Given the description of an element on the screen output the (x, y) to click on. 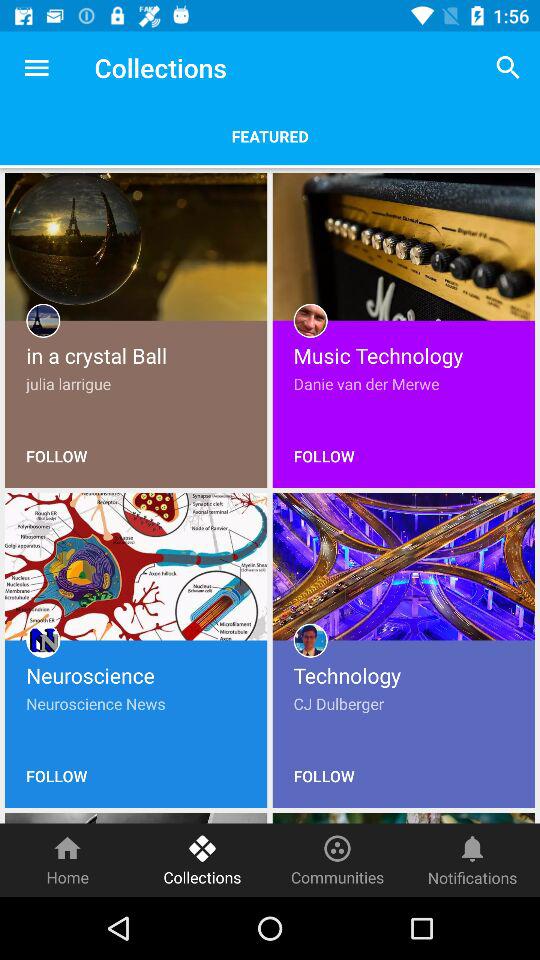
open the icon at the top (270, 135)
